Given the description of an element on the screen output the (x, y) to click on. 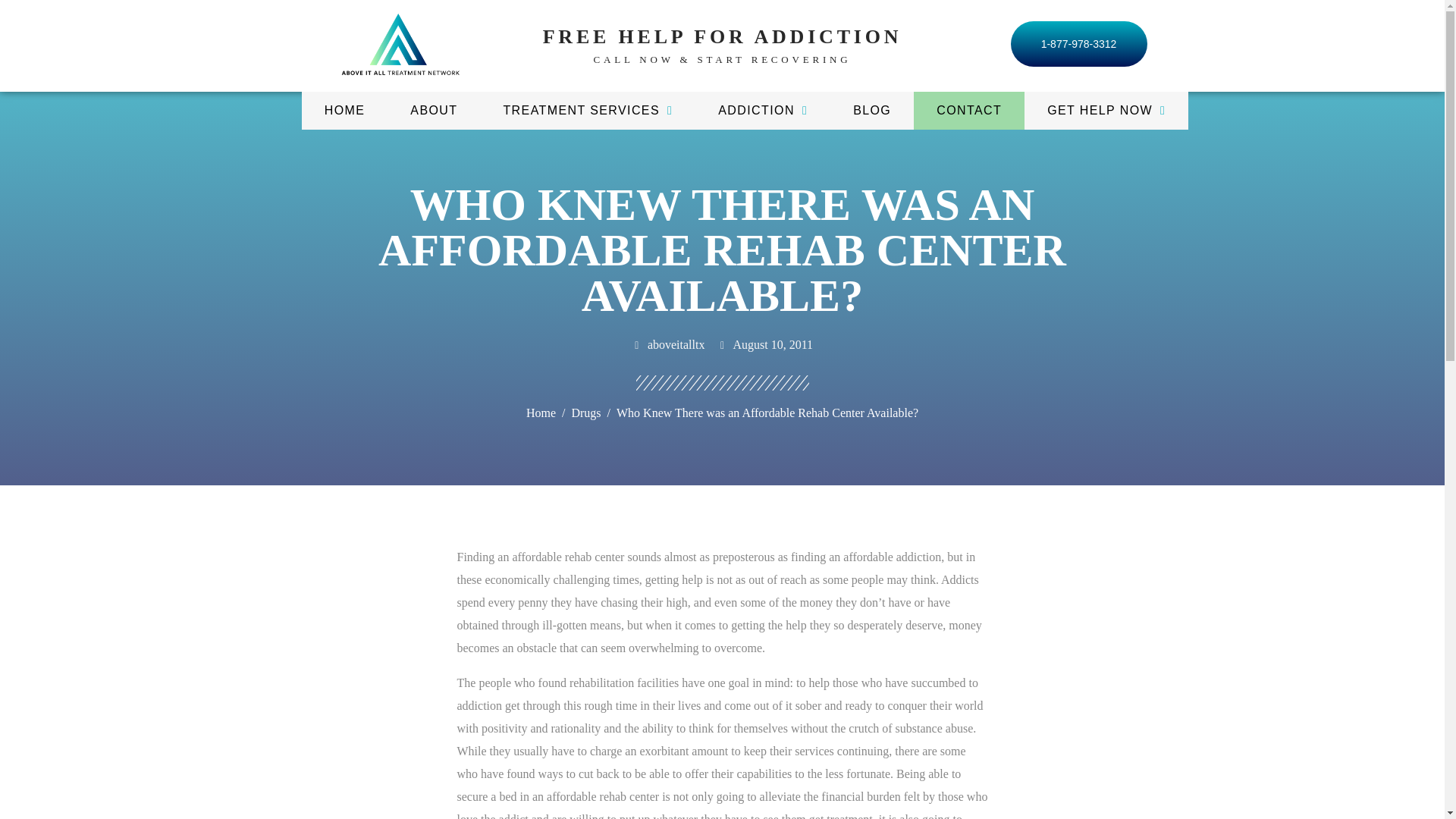
August 10, 2011 (764, 344)
HOME (344, 110)
ABOUT (433, 110)
Drugs (584, 412)
1-877-978-3312 (1078, 43)
ADDICTION (762, 110)
GET HELP NOW (1106, 110)
Home (540, 412)
aboveitalltx (667, 344)
BLOG (871, 110)
